Given the description of an element on the screen output the (x, y) to click on. 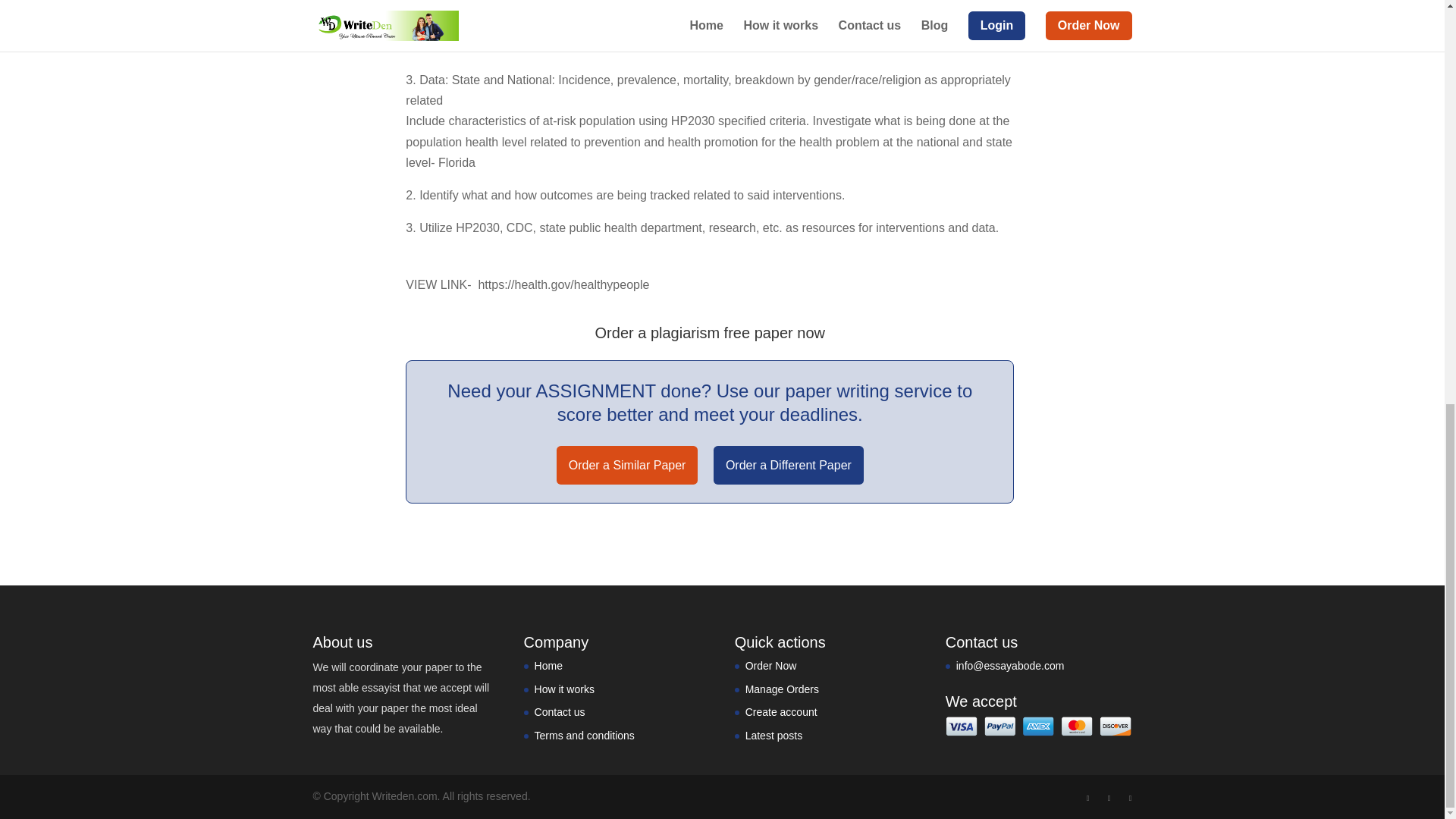
How it works (564, 689)
Terms and conditions (584, 735)
Home (548, 665)
Create account (780, 711)
Manage Orders (781, 689)
Order a Similar Paper (627, 464)
Contact us (559, 711)
Latest posts (774, 735)
Order a Different Paper (788, 464)
Order Now (770, 665)
